Given the description of an element on the screen output the (x, y) to click on. 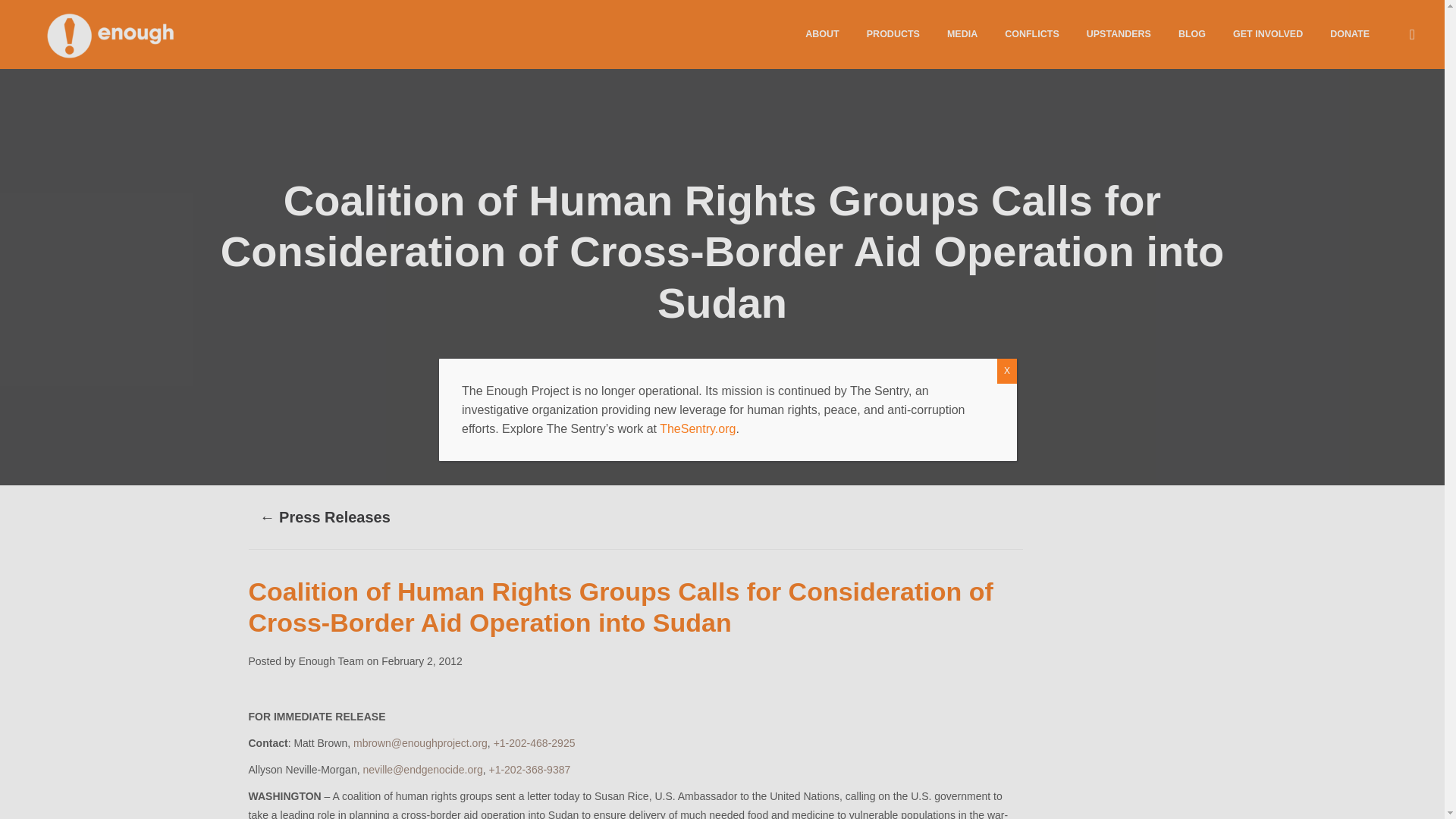
CONFLICTS (1032, 33)
ABOUT (821, 33)
UPSTANDERS (1118, 33)
GET INVOLVED (1268, 33)
PRODUCTS (893, 33)
